Given the description of an element on the screen output the (x, y) to click on. 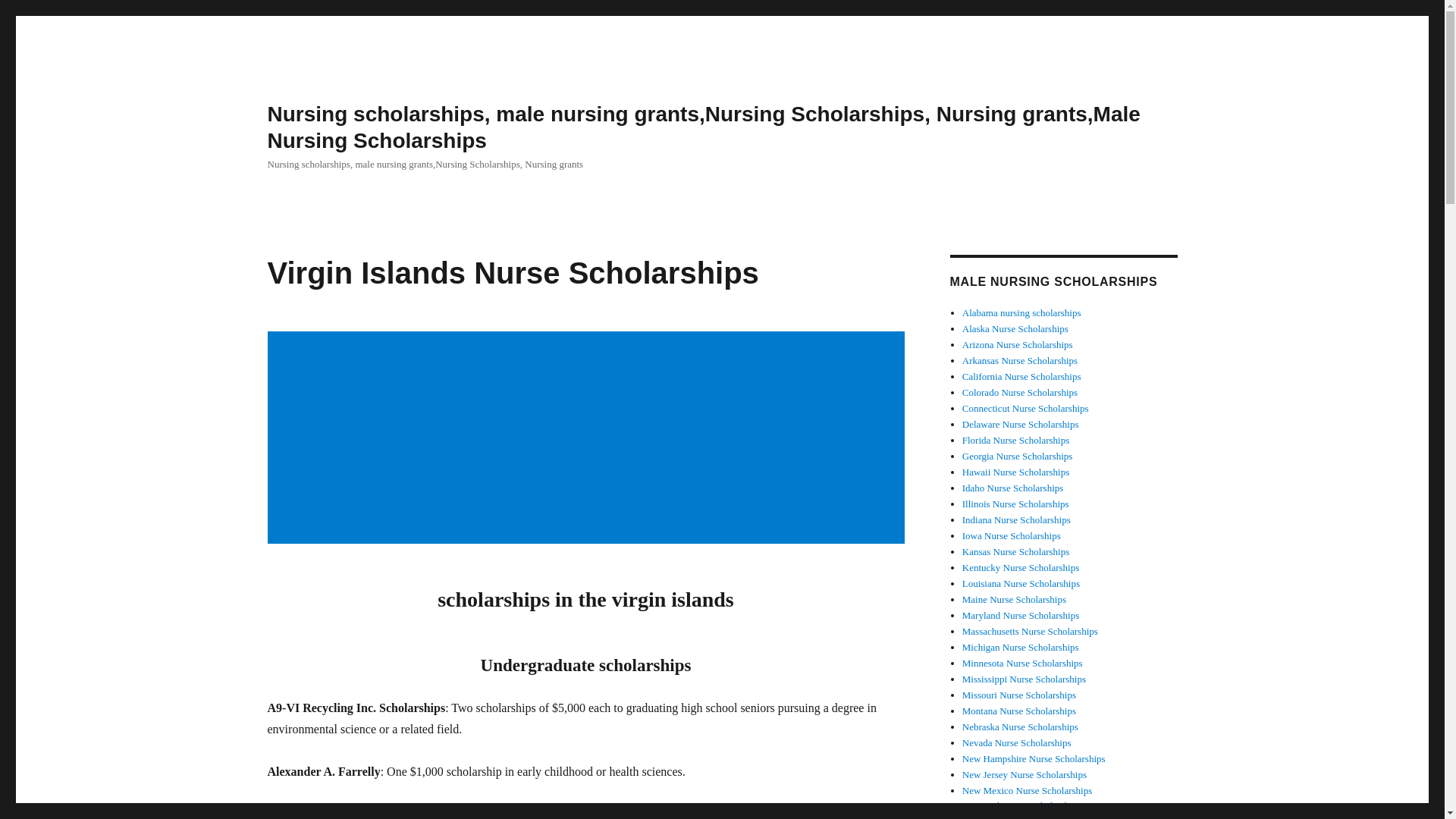
Idaho Nurse Scholarships (1013, 487)
Montana Nurse Scholarships (1018, 710)
New York Nurse Scholarships (1021, 805)
Illinois Nurse Scholarships (1015, 503)
Kansas Nurse Scholarships (1016, 551)
Nevada Nurse Scholarships (1016, 742)
Kentucky Nurse Scholarships (1021, 567)
Louisiana Nurse Scholarships (1021, 583)
Missouri Nurse Scholarships (1018, 695)
North Carolina Nurse Scholarships (1031, 817)
Nebraska Nurse Scholarships (1020, 726)
Maryland Nurse Scholarships (1021, 614)
Arkansas Nurse Scholarships (1019, 360)
Arizona Nurse Scholarships (1017, 344)
